Given the description of an element on the screen output the (x, y) to click on. 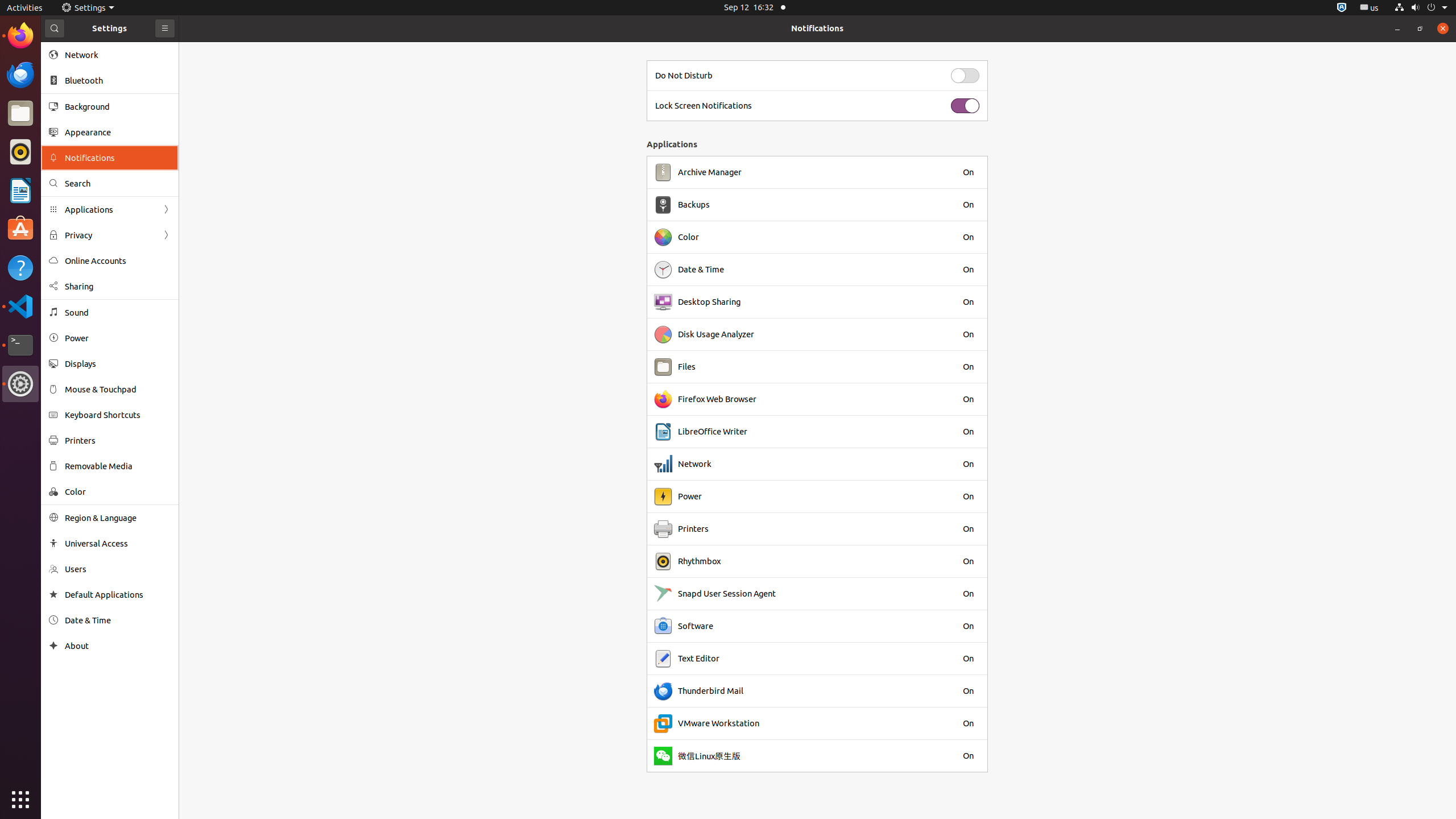
Settings Element type: menu (87, 7)
About Element type: icon (53, 645)
Background Element type: label (117, 106)
Universal Access Element type: label (117, 543)
